Given the description of an element on the screen output the (x, y) to click on. 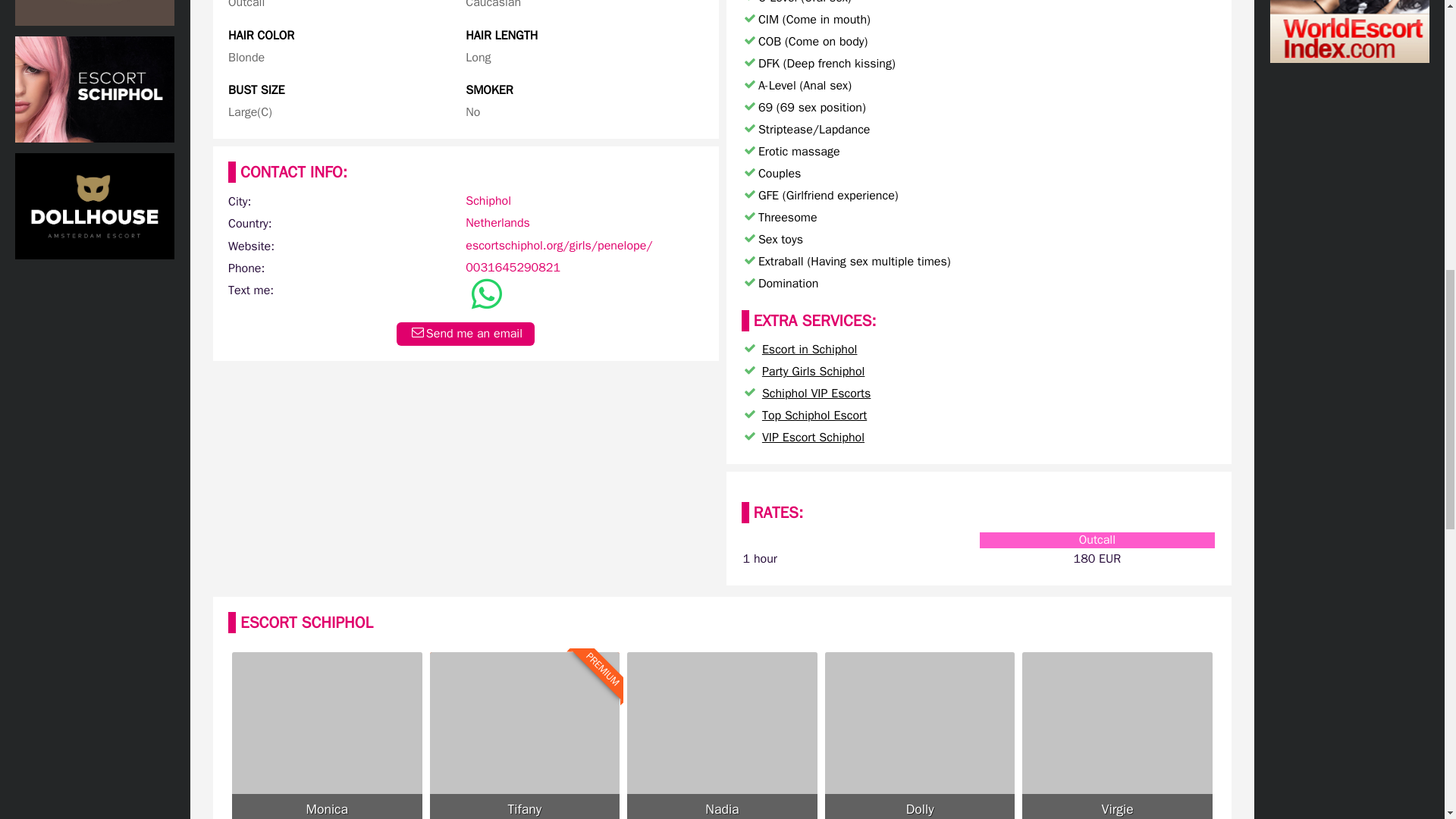
Netherlands (524, 735)
Netherlands (721, 735)
VIP Escort Schiphol (497, 222)
Schiphol (497, 222)
Schiphol VIP Escorts (1117, 735)
Party Girls Schiphol (812, 436)
Top Schiphol Escort (488, 200)
